Given the description of an element on the screen output the (x, y) to click on. 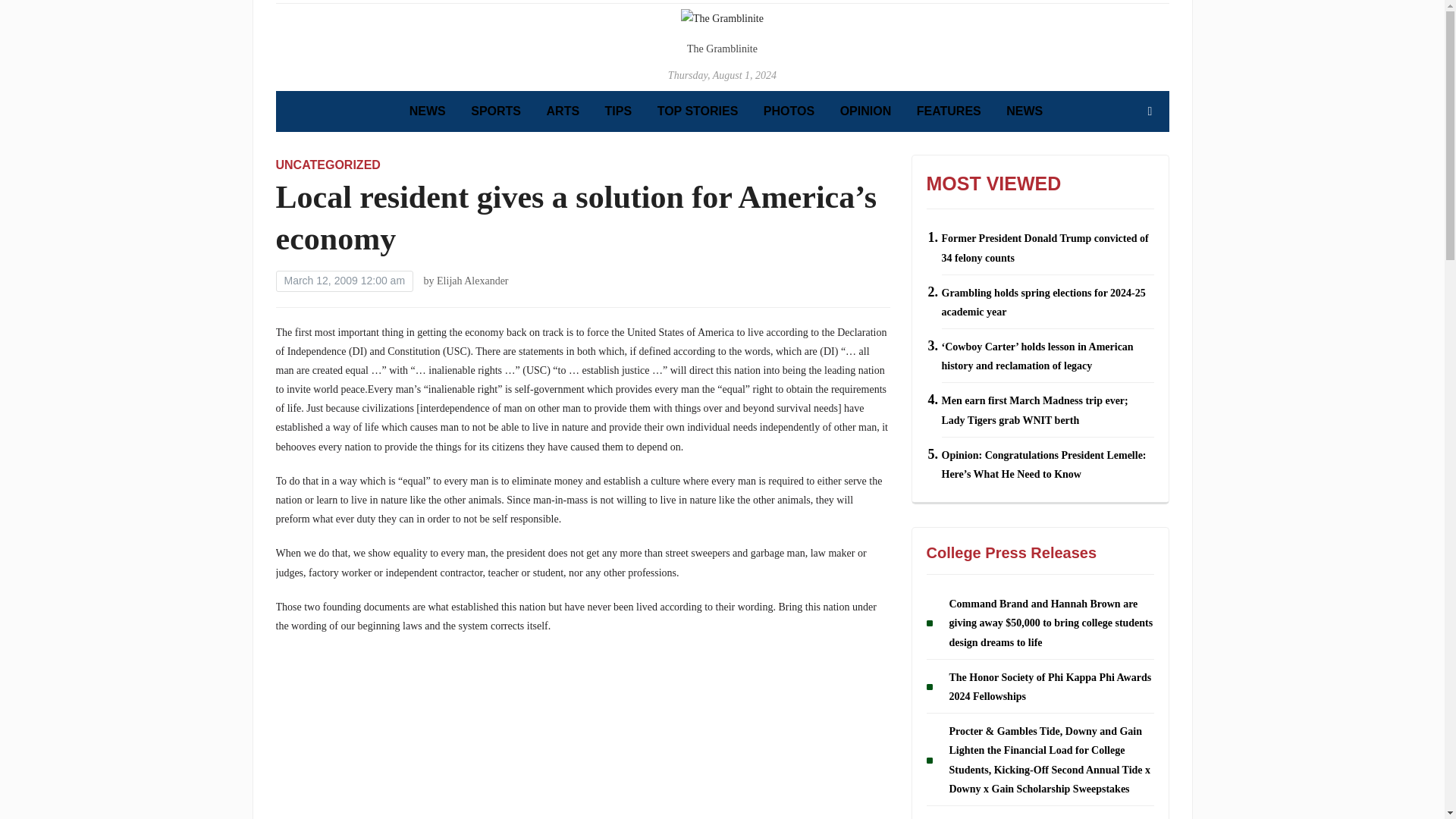
The Honor Society of Phi Kappa Phi Awards 2024 Fellowships (1050, 686)
Search (1149, 111)
Grambling holds spring elections for 2024-25 academic year (1043, 302)
TIPS (618, 111)
OPINION (865, 111)
Former President Donald Trump convicted of 34 felony counts (1045, 247)
NEWS (427, 111)
UNCATEGORIZED (328, 164)
PHOTOS (787, 111)
The Honor Society of Phi Kappa Phi Awards 2024 Fellowships (1050, 686)
ARTS (563, 111)
TOP STORIES (698, 111)
NEWS (1024, 111)
